Given the description of an element on the screen output the (x, y) to click on. 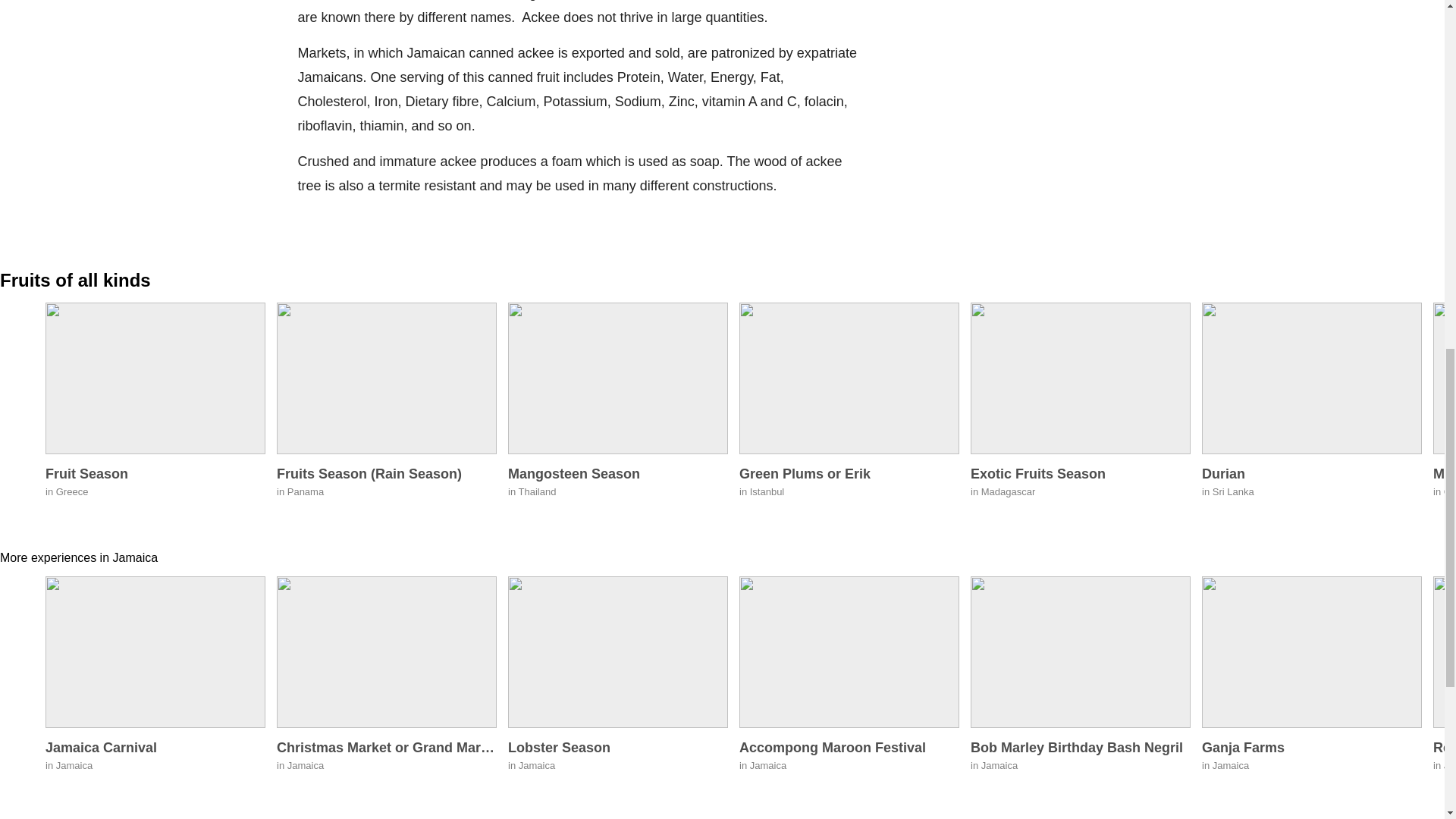
Barbados (1081, 415)
Florida (1312, 415)
